Given the description of an element on the screen output the (x, y) to click on. 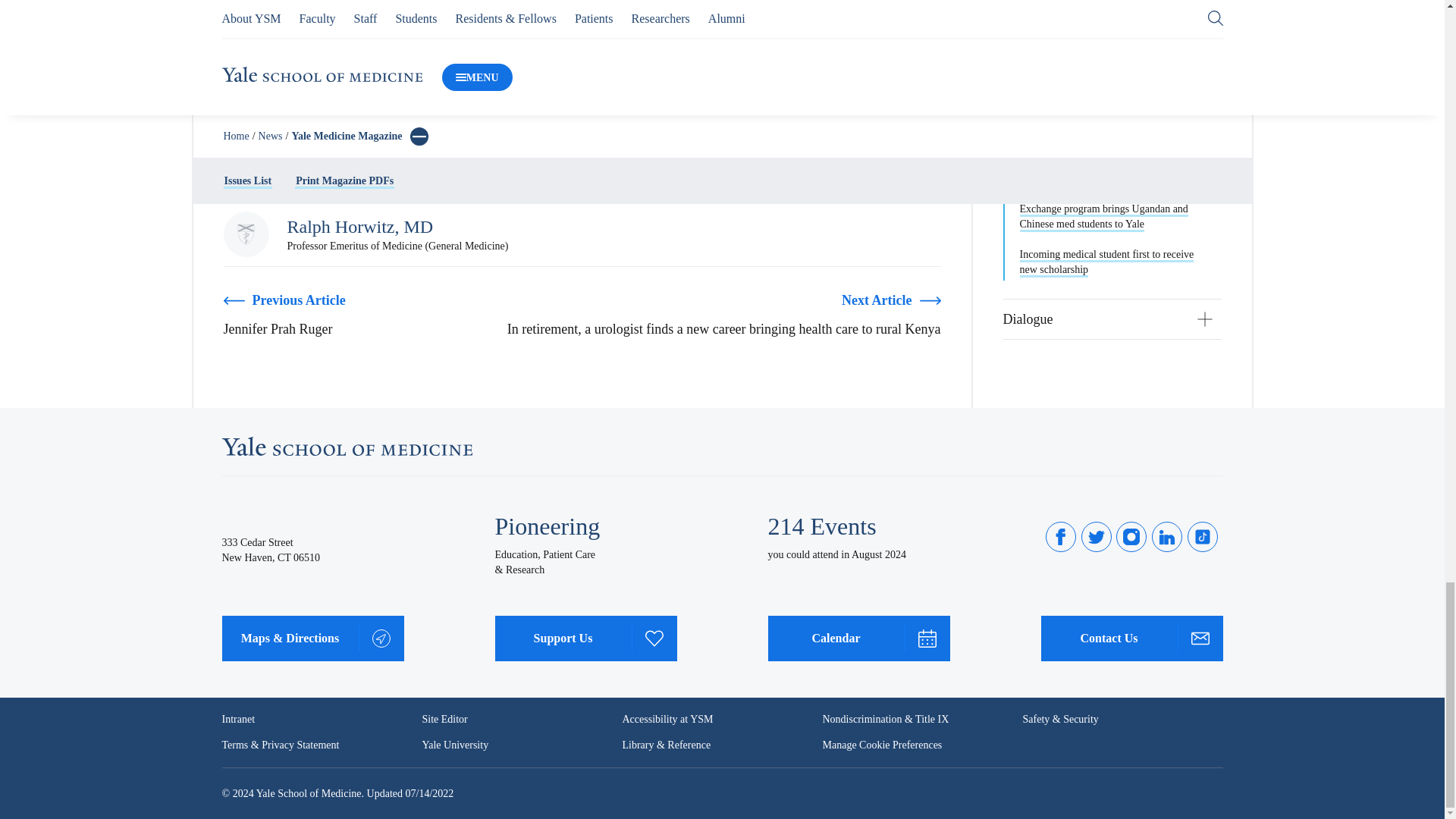
Yale School of Medicine (346, 445)
